Given the description of an element on the screen output the (x, y) to click on. 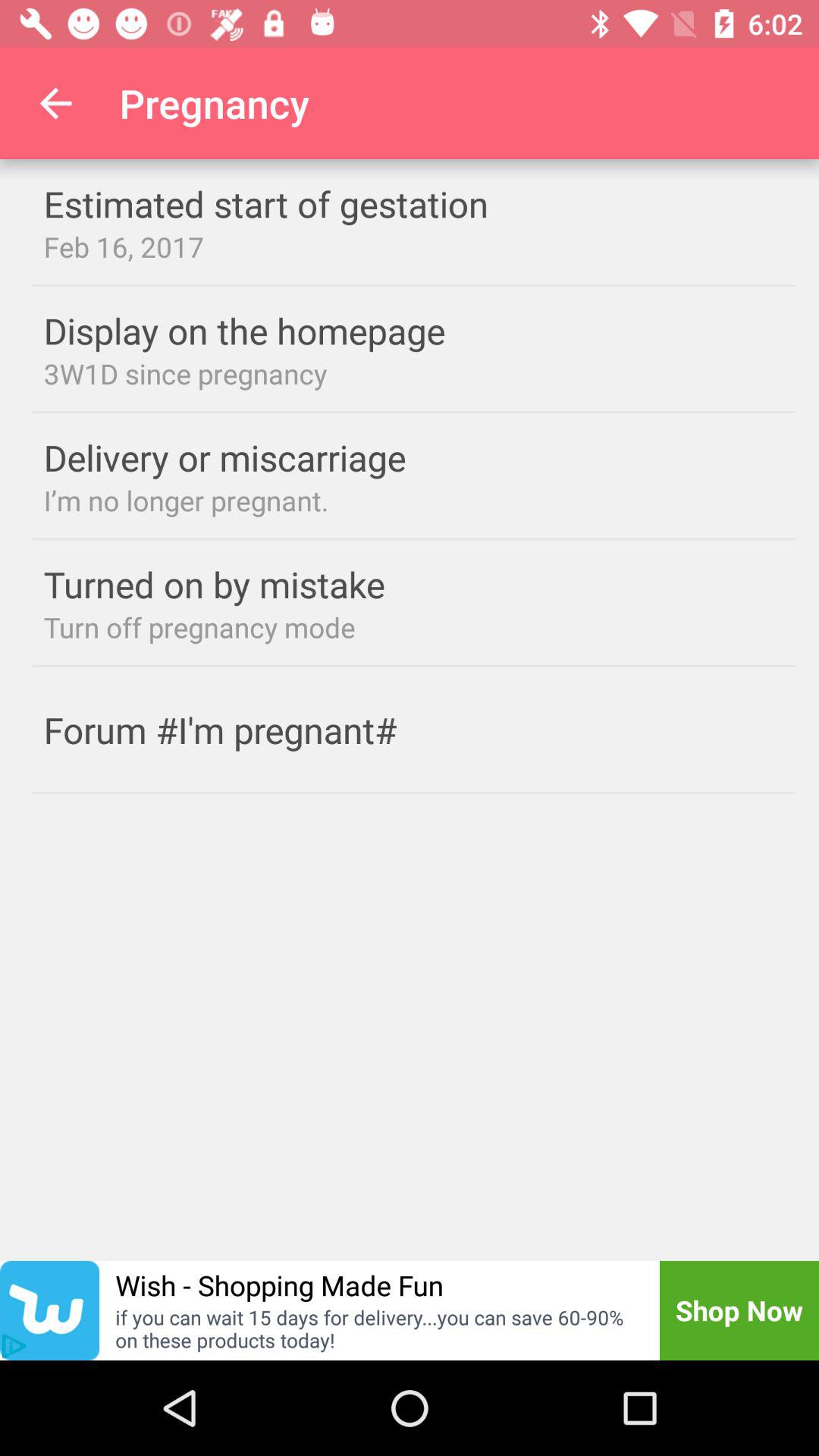
jump until wish shopping made icon (279, 1285)
